Given the description of an element on the screen output the (x, y) to click on. 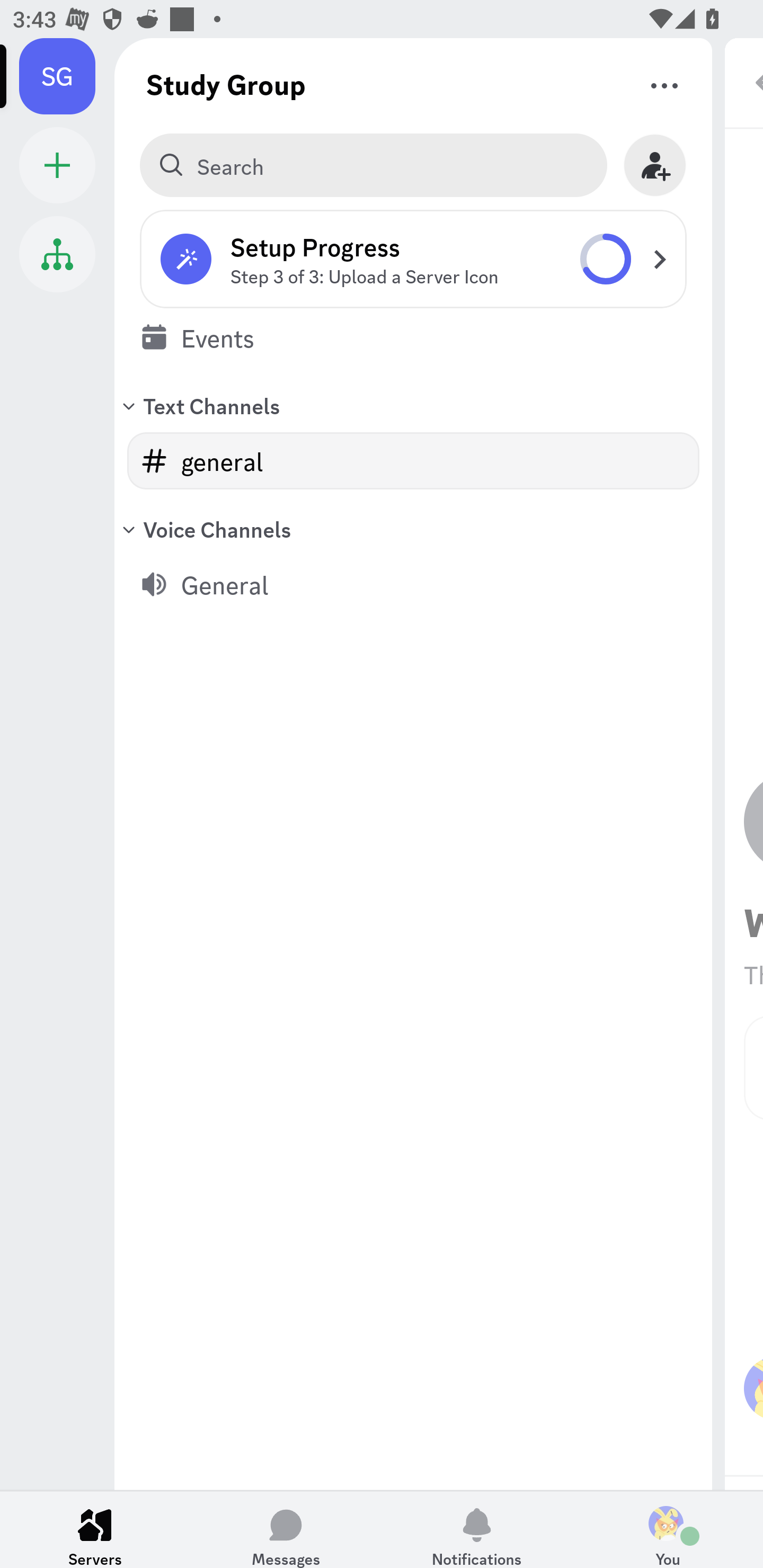
  Study Group SG (66, 75)
Study Group (226, 83)
Add a Server (57, 165)
Search (373, 165)
Invite (654, 165)
Student Hub (57, 253)
Events (413, 336)
Text Channels (412, 404)
general (text channel) general (413, 460)
Voice Channels (412, 528)
General (voice channel), 0 users General (413, 584)
Servers (95, 1529)
Messages (285, 1529)
Notifications (476, 1529)
You (667, 1529)
